Given the description of an element on the screen output the (x, y) to click on. 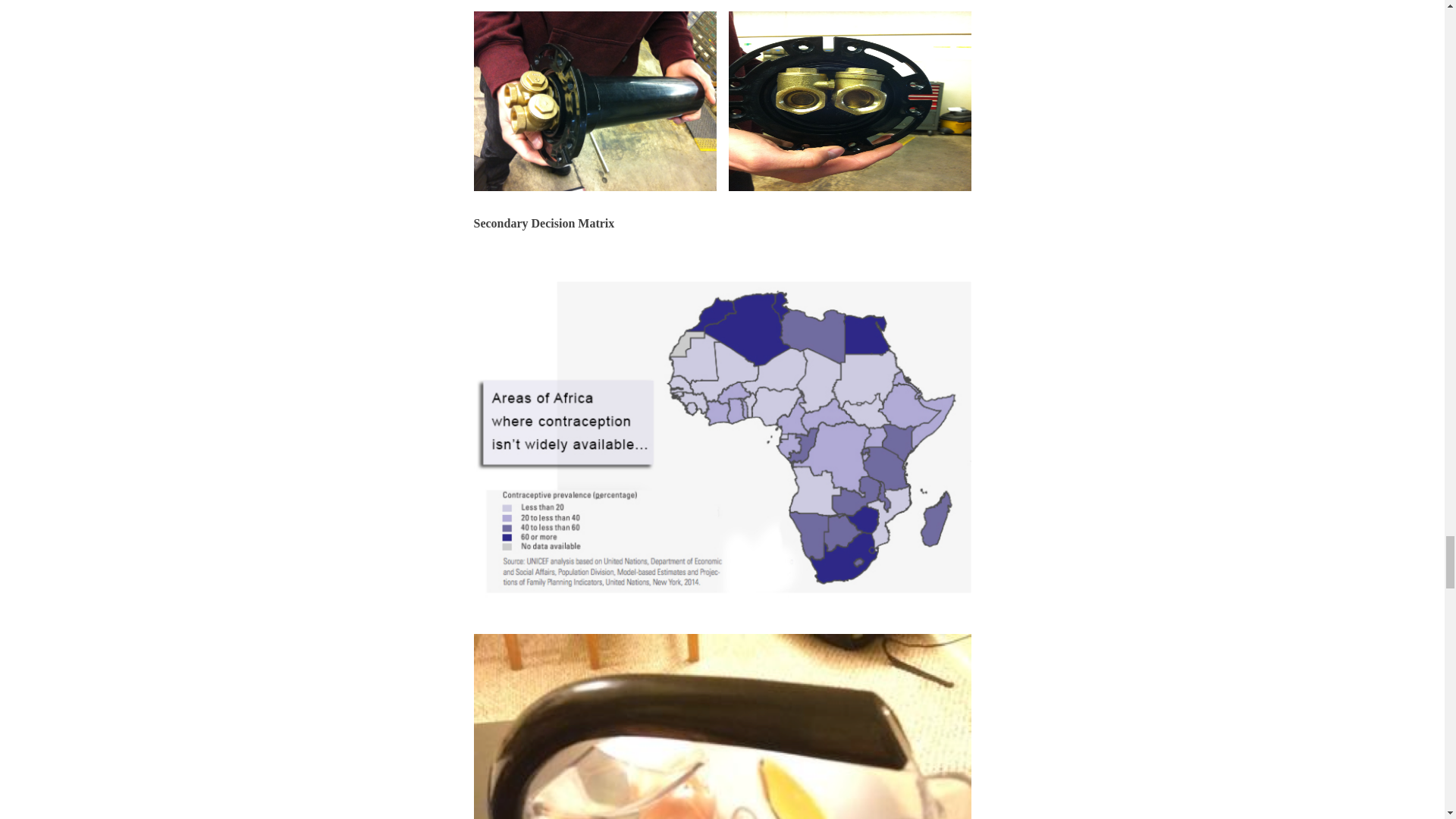
Picture 3.png (722, 726)
